Given the description of an element on the screen output the (x, y) to click on. 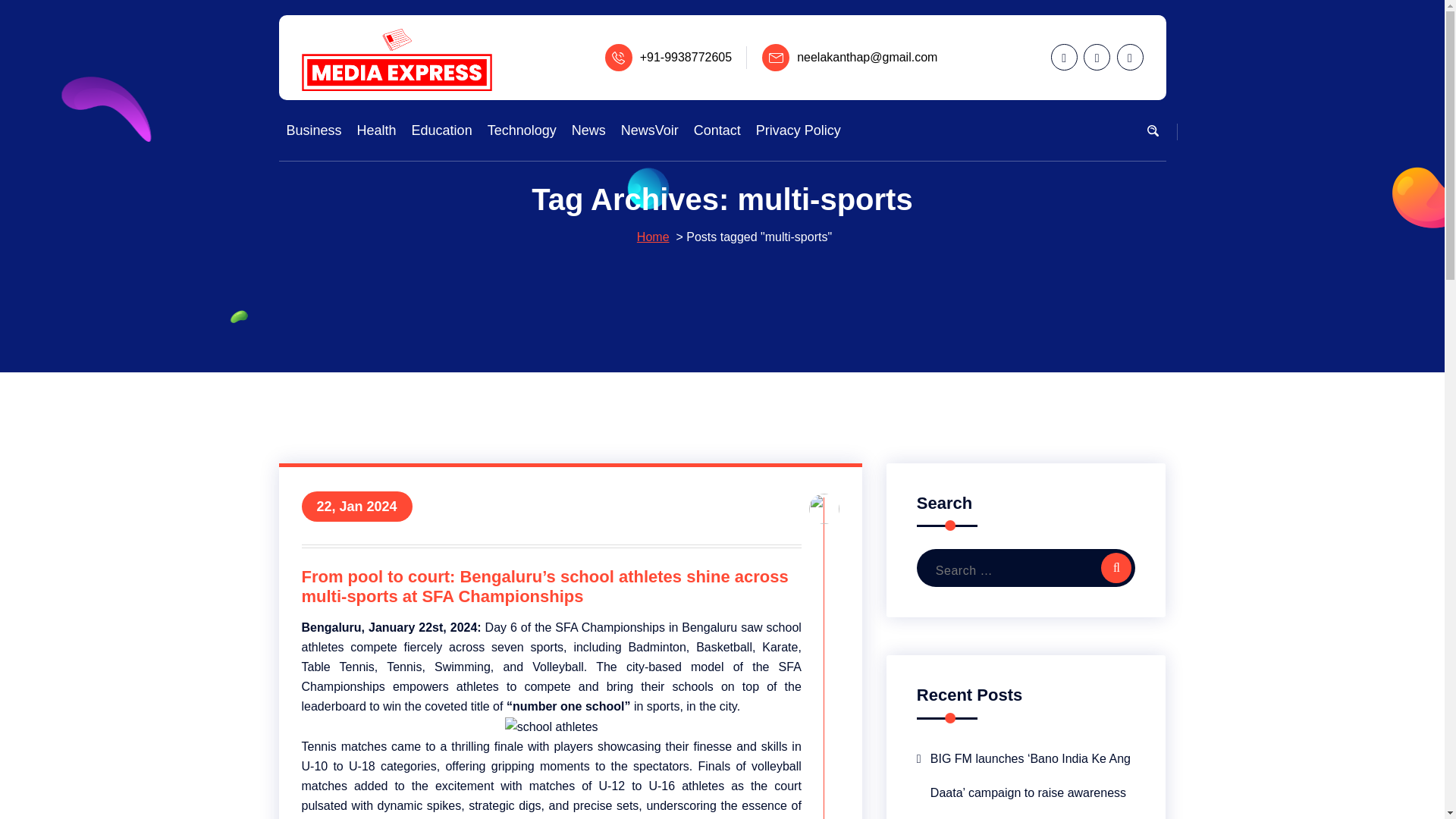
Search (1115, 567)
Home (653, 236)
Education (441, 130)
Business (314, 130)
News (588, 130)
Technology (521, 130)
Contact (717, 130)
Privacy Policy (798, 130)
Health (376, 130)
NewsVoir (649, 130)
